Given the description of an element on the screen output the (x, y) to click on. 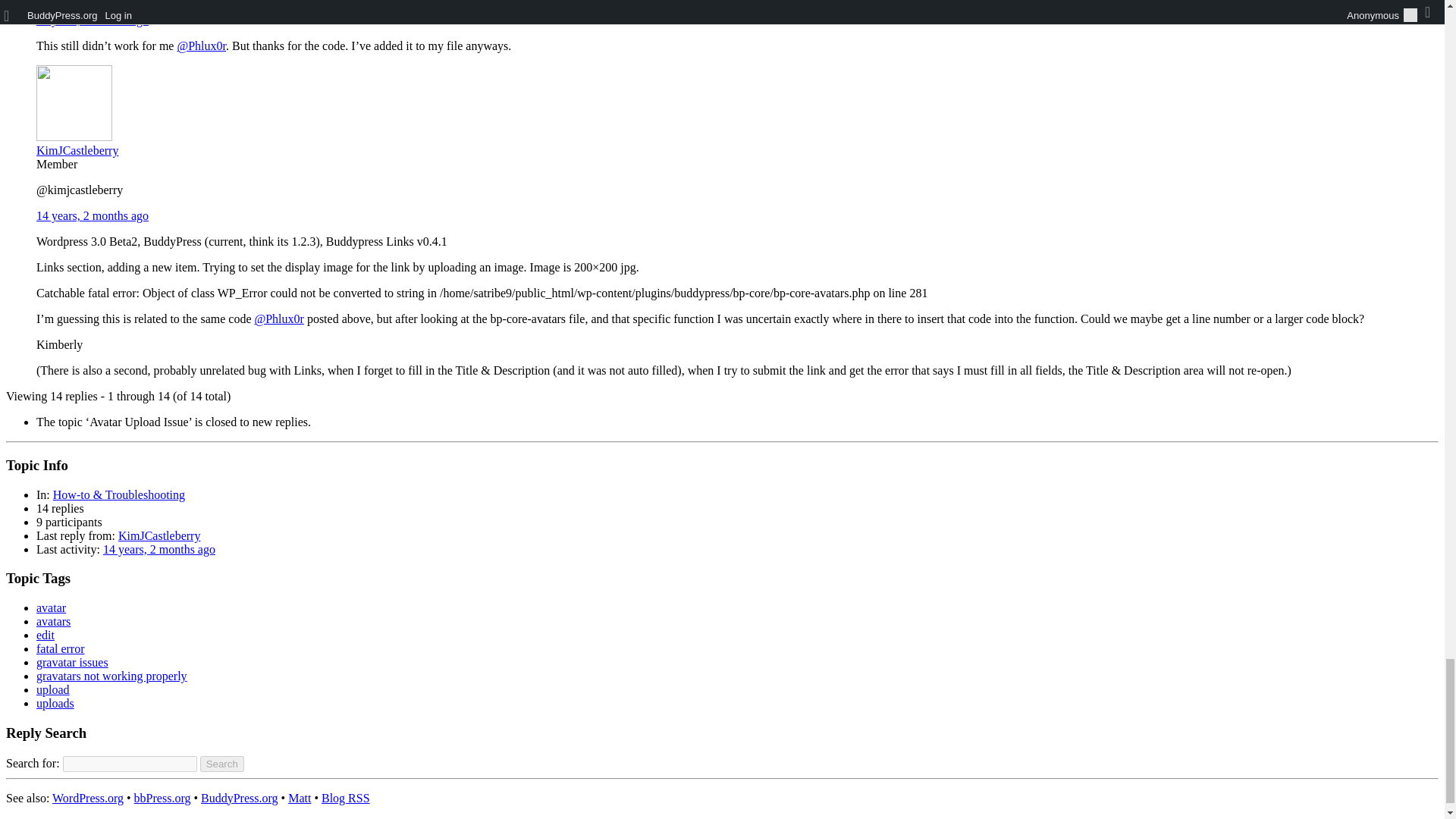
Search (222, 763)
